Given the description of an element on the screen output the (x, y) to click on. 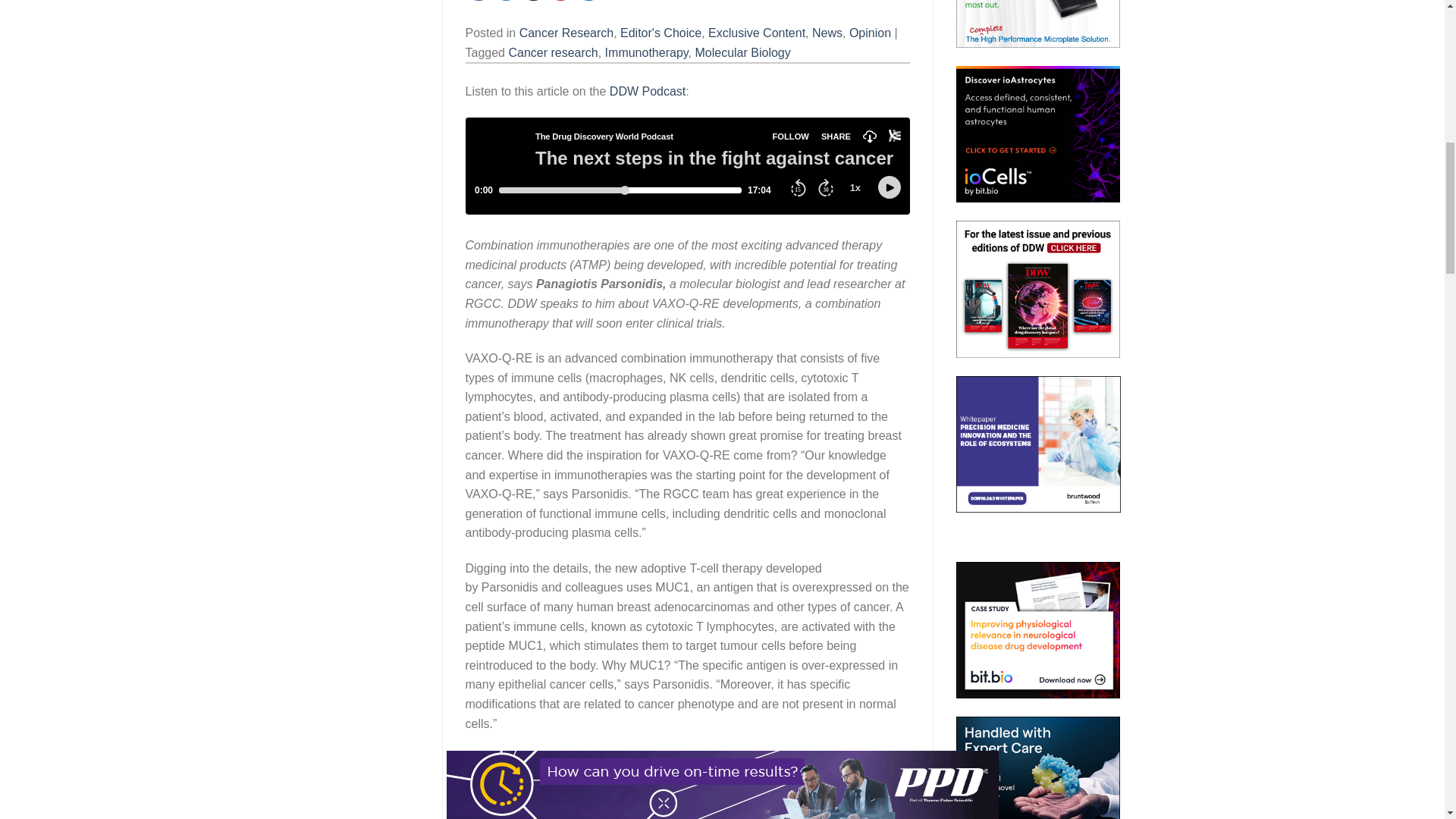
Learn more (1038, 23)
Download Whitepaper (1038, 444)
Download Case Study (1038, 629)
Click to get started (1038, 134)
Download Whitepaper (1038, 767)
Embed Player (687, 165)
Click here to read the magazine (1038, 288)
